Given the description of an element on the screen output the (x, y) to click on. 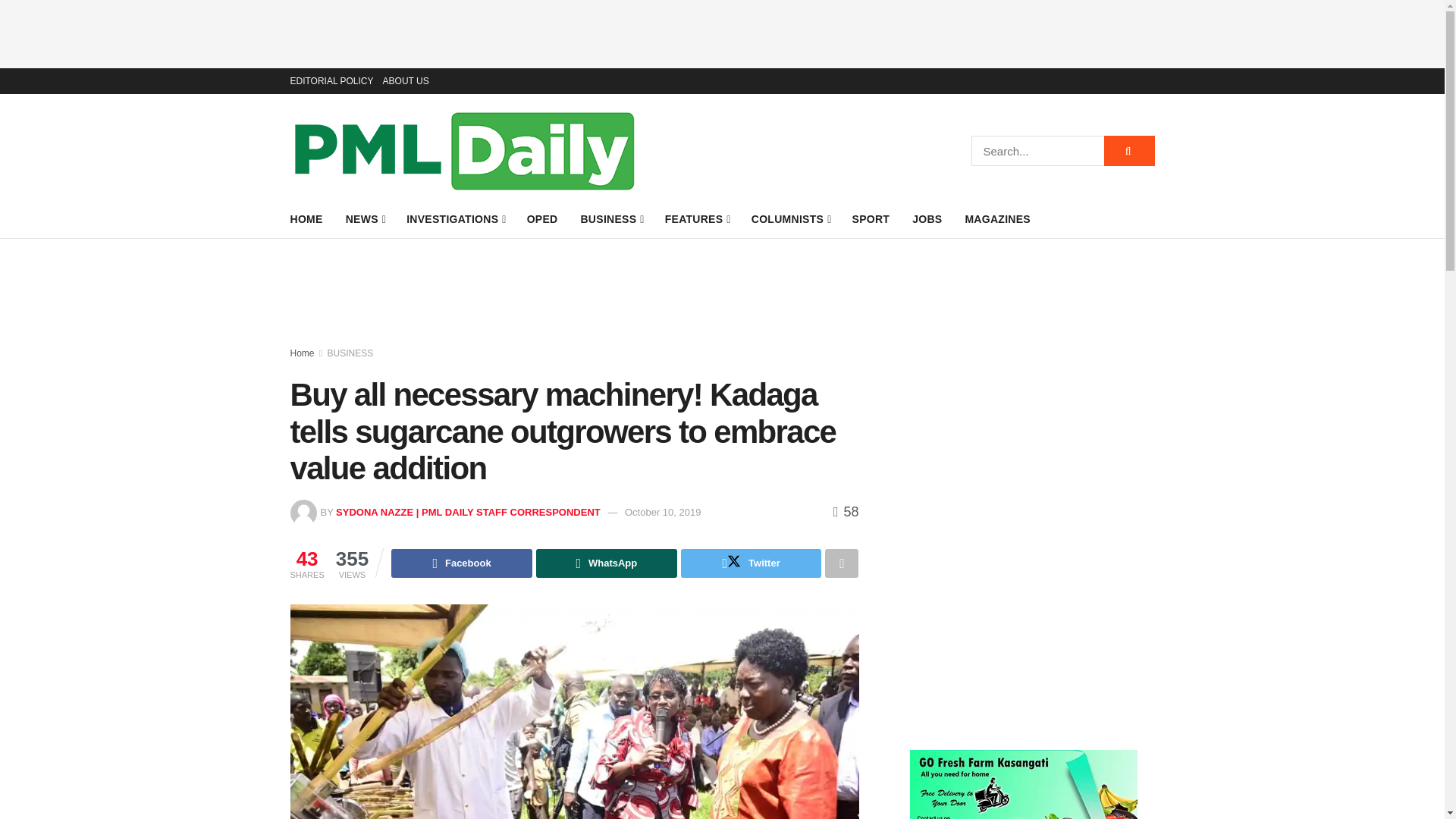
INVESTIGATIONS (454, 219)
MAGAZINES (996, 219)
OPED (542, 219)
EDITORIAL POLICY (330, 80)
FEATURES (697, 219)
ABOUT US (405, 80)
BUSINESS (610, 219)
HOME (305, 219)
NEWS (365, 219)
SPORT (870, 219)
JOBS (927, 219)
COLUMNISTS (790, 219)
